Given the description of an element on the screen output the (x, y) to click on. 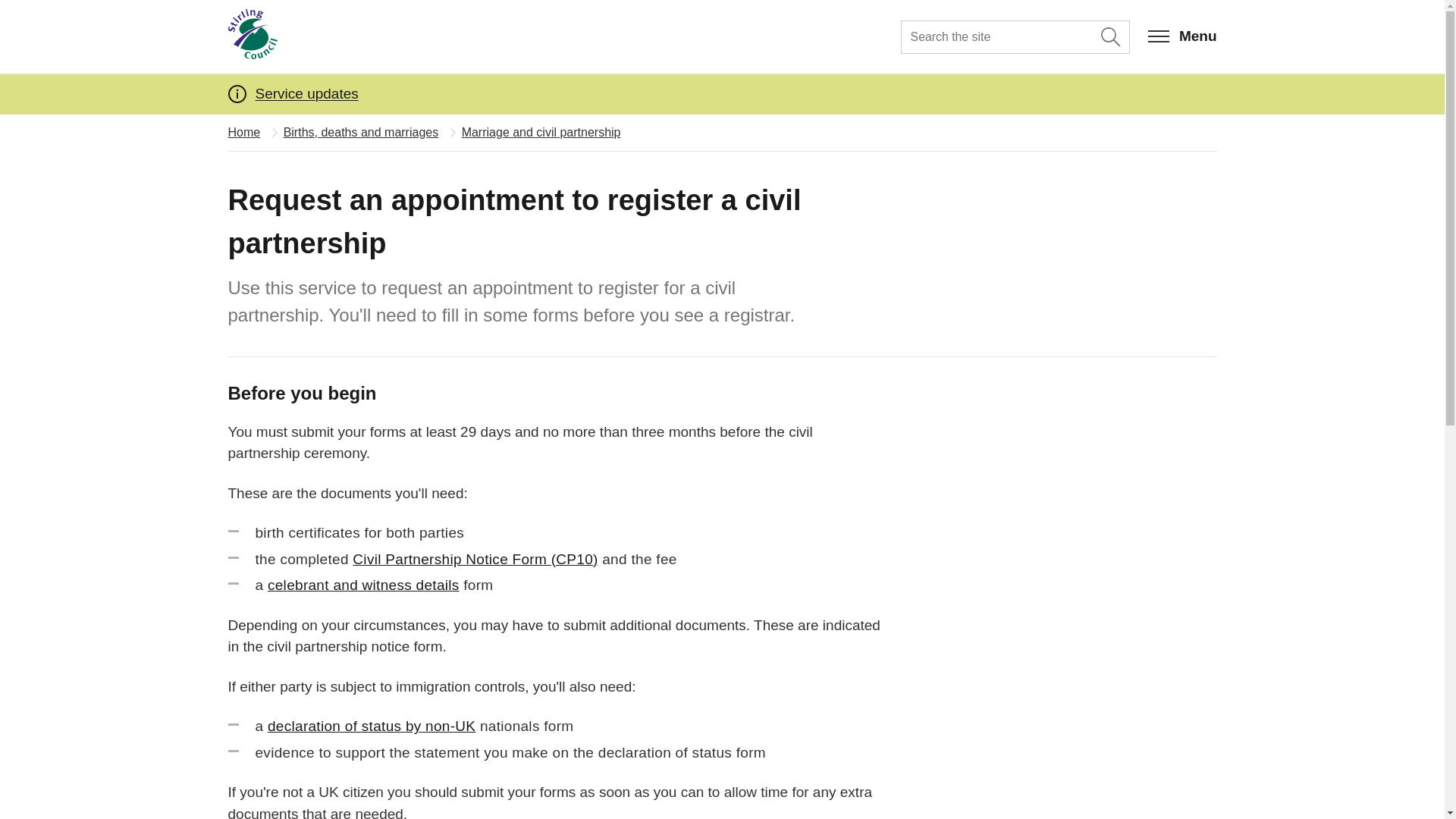
Service updates (306, 93)
Home (243, 132)
declaration of status by non-UK (371, 725)
Marriage and civil partnership (541, 132)
celebrant and witness details (363, 584)
Births, deaths and marriages (361, 132)
Menu (1182, 36)
